Given the description of an element on the screen output the (x, y) to click on. 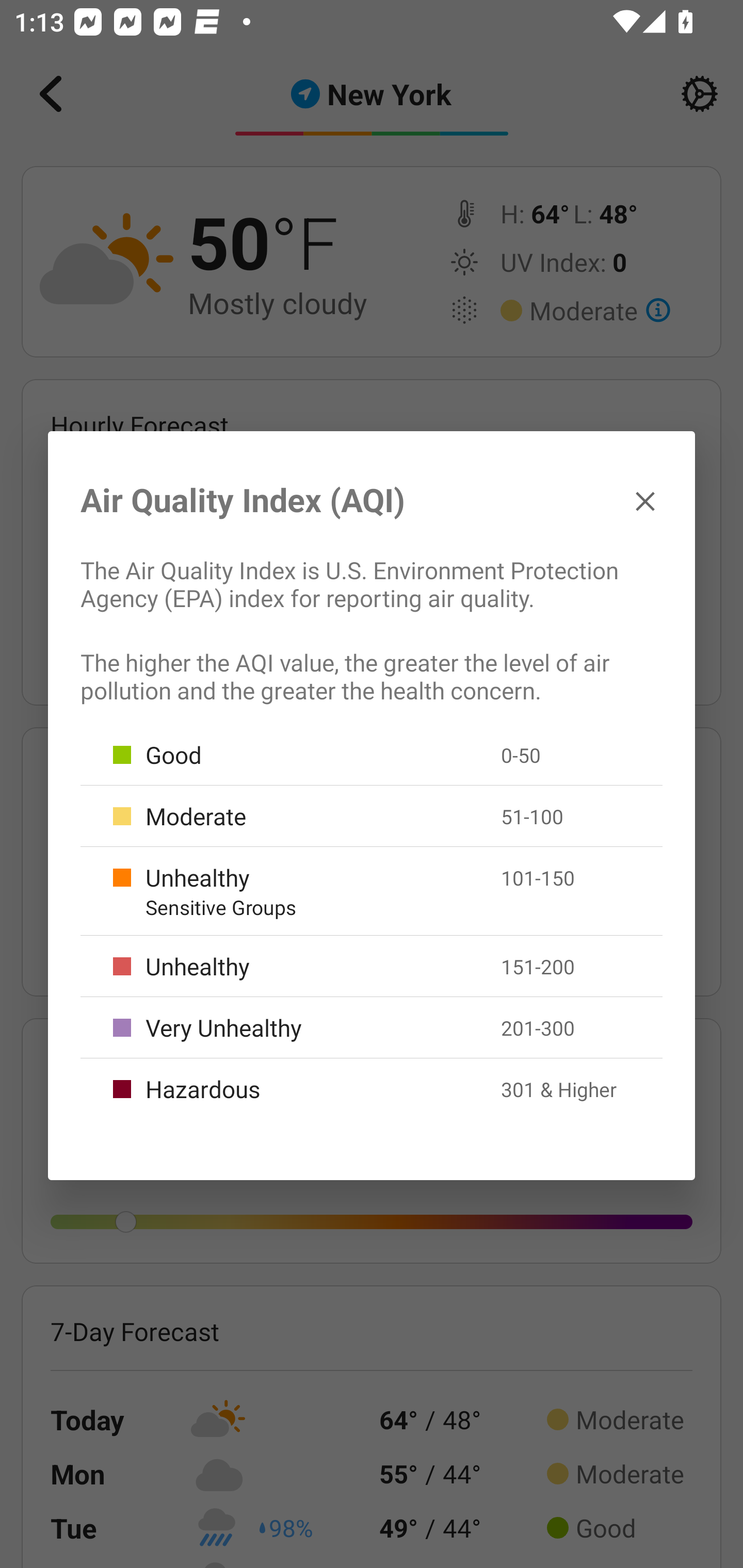
✕ (644, 499)
